Given the description of an element on the screen output the (x, y) to click on. 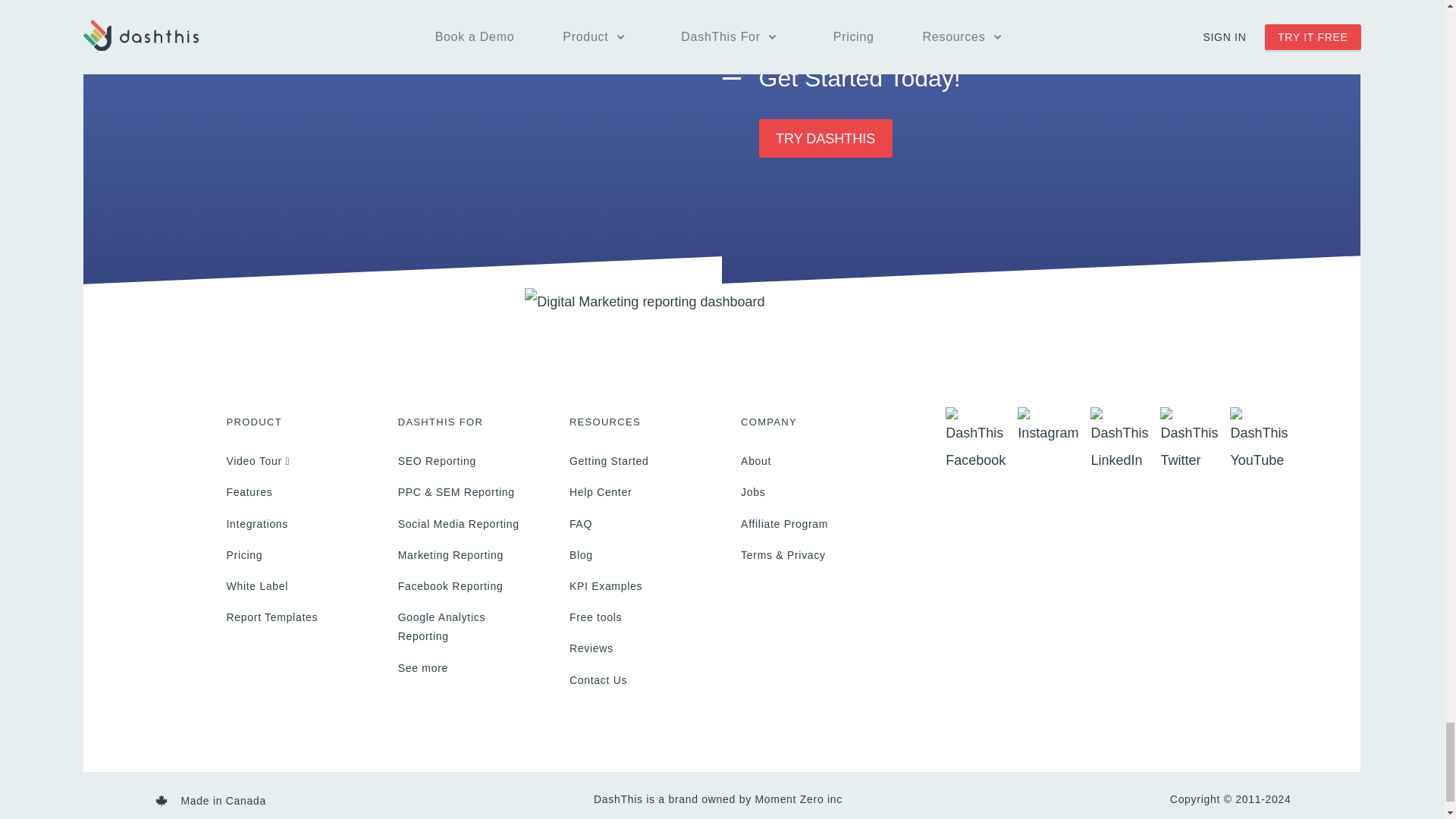
DashThis Instagram (1047, 426)
Twitter (1189, 440)
LinkedIn (1119, 440)
Facebook (975, 440)
YouTube (1258, 440)
